Given the description of an element on the screen output the (x, y) to click on. 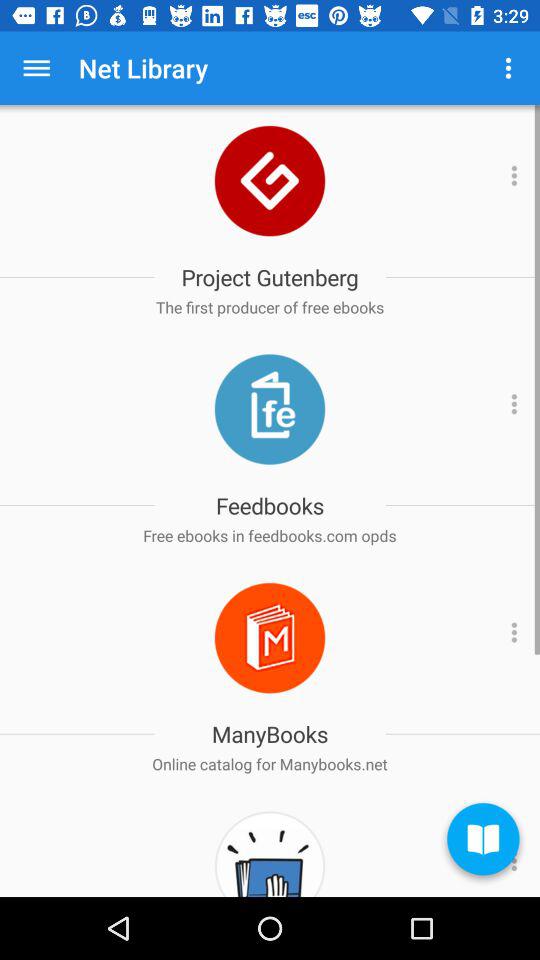
click the item below the online catalog for item (483, 842)
